Given the description of an element on the screen output the (x, y) to click on. 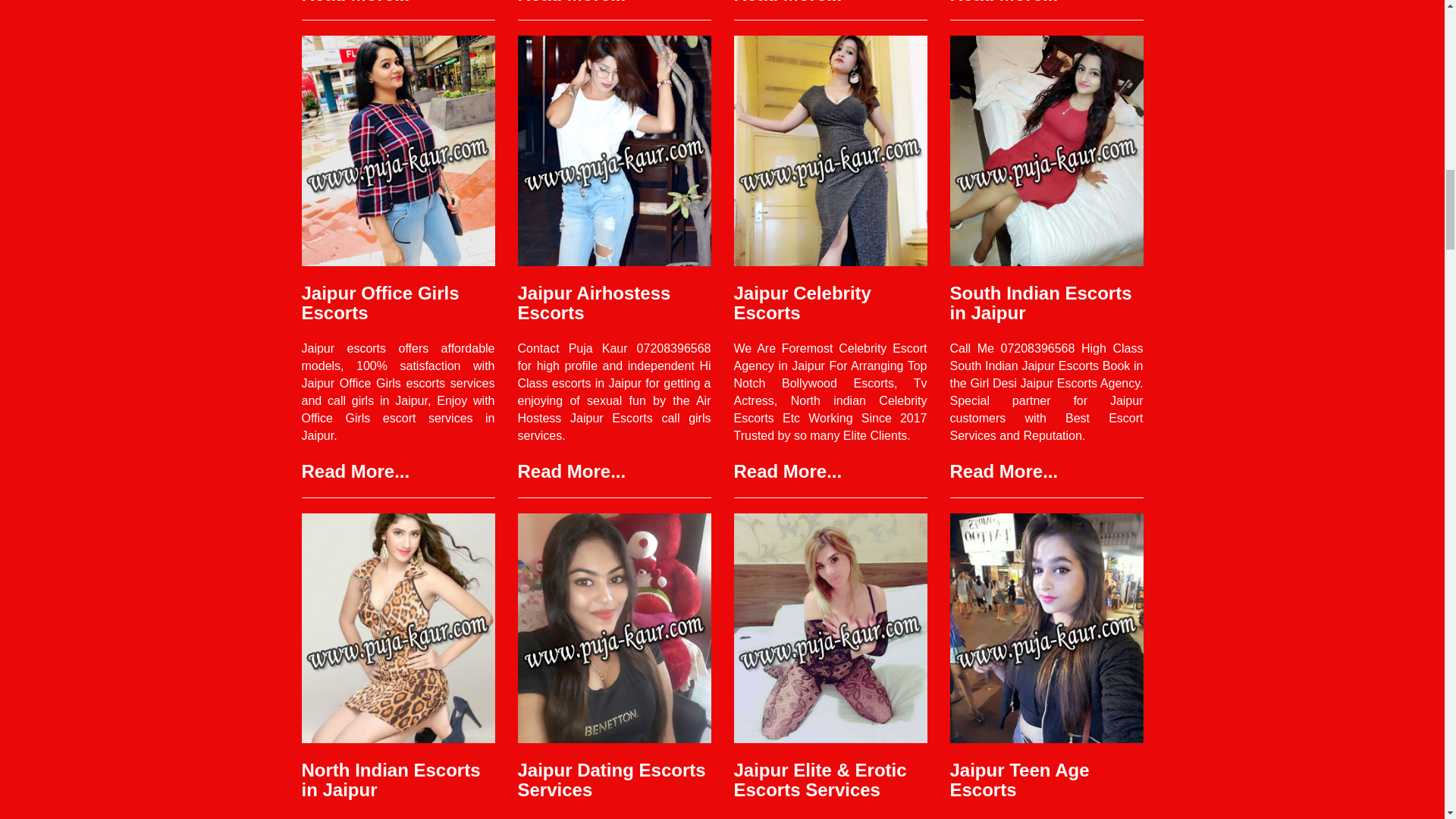
Read More... (571, 2)
Read More... (788, 2)
Read More... (355, 471)
Read More... (1003, 2)
Read More... (788, 471)
Read More... (571, 471)
Read More... (355, 2)
Read More... (1003, 471)
